Given the description of an element on the screen output the (x, y) to click on. 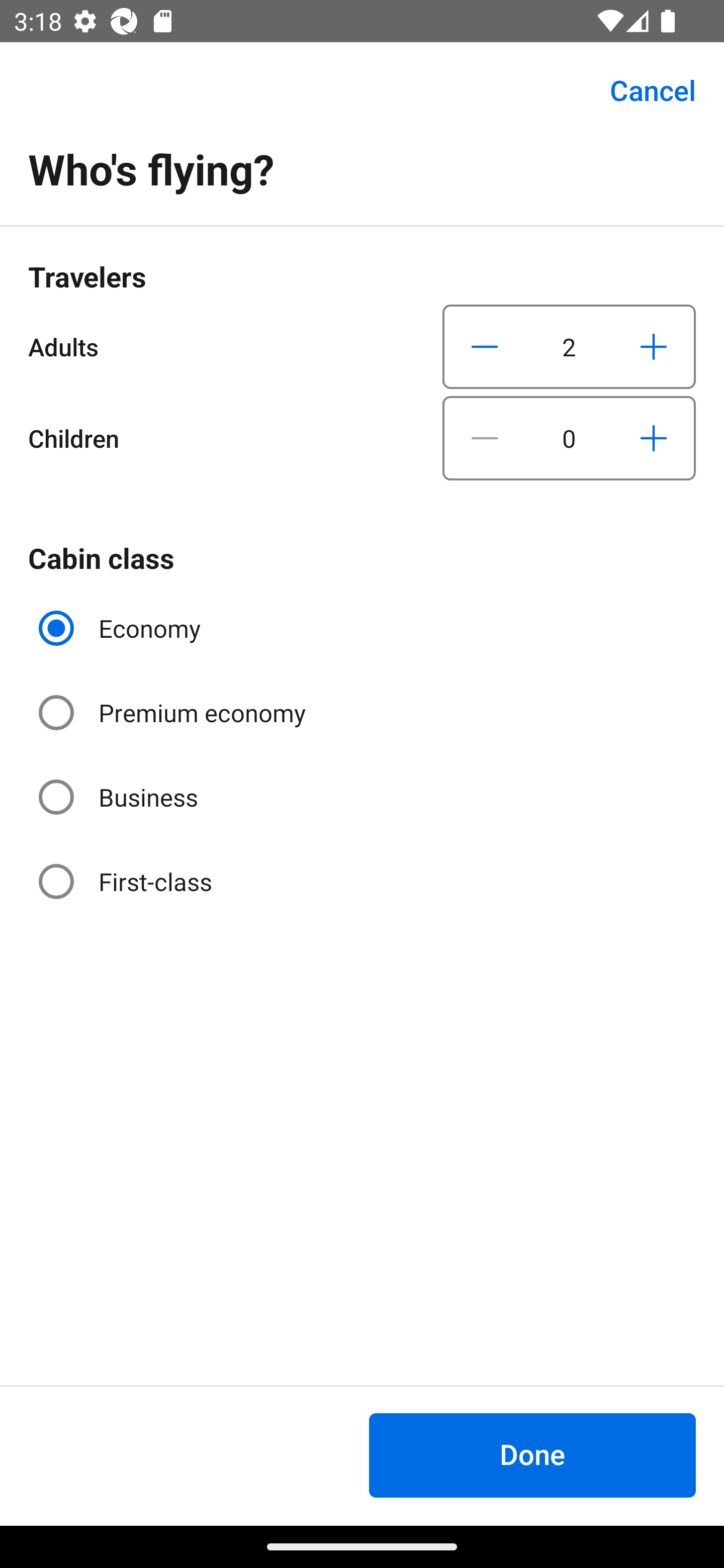
Cancel (641, 90)
Decrease (484, 346)
Increase (653, 346)
Decrease (484, 437)
Increase (653, 437)
Economy (121, 628)
Premium economy (174, 712)
Business (120, 796)
First-class (126, 880)
Done (532, 1454)
